Given the description of an element on the screen output the (x, y) to click on. 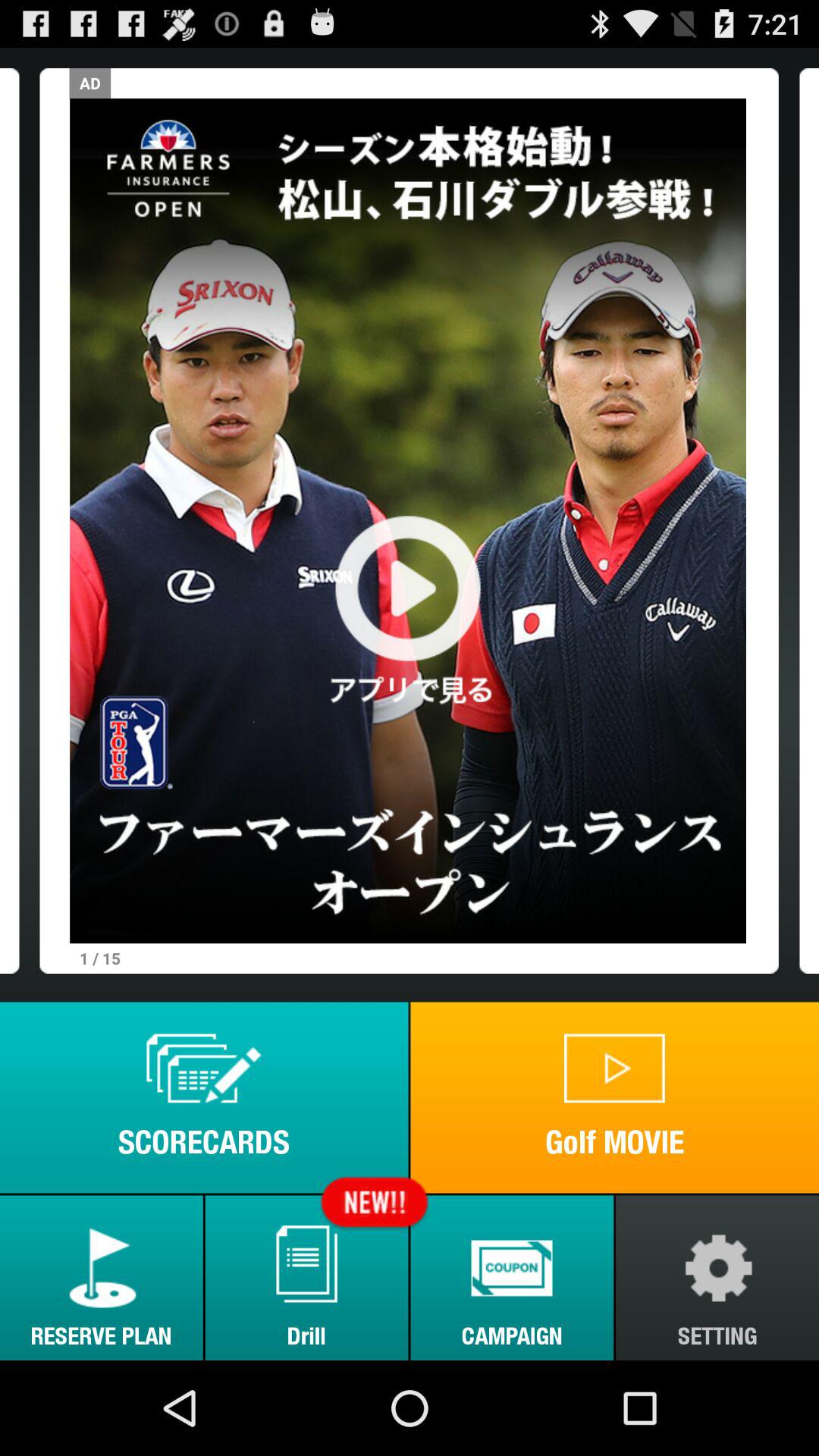
click the drill (306, 1277)
